Given the description of an element on the screen output the (x, y) to click on. 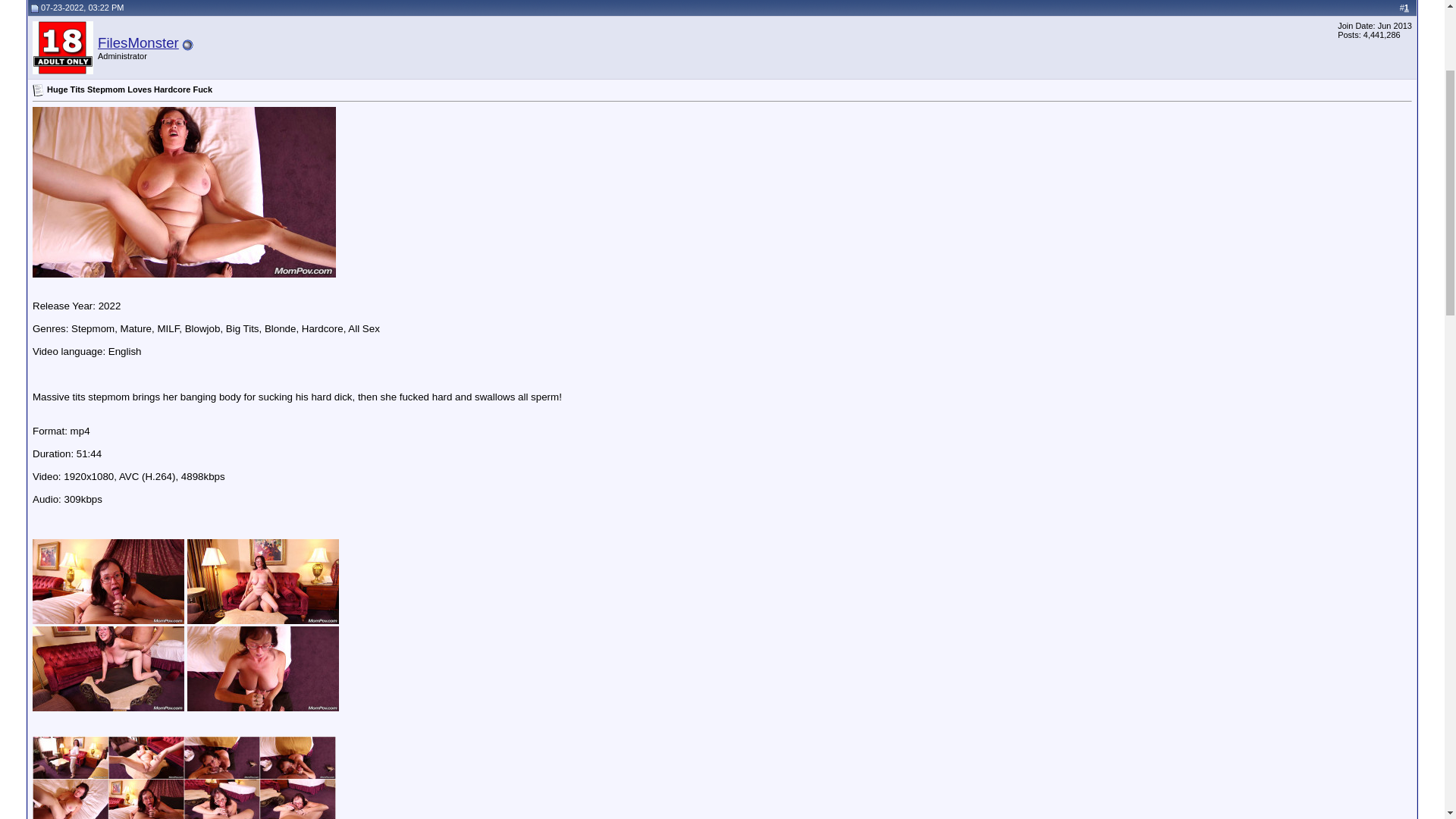
Reload this Page Element type: hover (43, 80)
Display Modes Element type: text (1372, 187)
FilesMonster.cc porn forum - 9 Years Online! Element type: text (129, 67)
Go Back Element type: hover (37, 67)
FAQ Element type: text (302, 100)
Calendar Element type: text (803, 100)
FilesMonster porn Element type: text (254, 67)
Search Element type: text (1325, 100)
FilesMonster.cc porn forum - 9 Years Online! Element type: hover (109, 22)
1 Element type: text (1406, 206)
Today's Posts Element type: text (1073, 100)
FilesMonster Element type: text (137, 242)
Log in Element type: text (1356, 82)
Mature, MILF Element type: text (322, 67)
Community Element type: text (530, 100)
Thread Tools Element type: text (1296, 187)
FilesMonster is offline Element type: hover (187, 244)
Old Element type: hover (34, 207)
FilesMonster's Avatar Element type: hover (62, 246)
Register Element type: text (133, 100)
Default Element type: hover (38, 289)
Reply Element type: hover (67, 165)
